Given the description of an element on the screen output the (x, y) to click on. 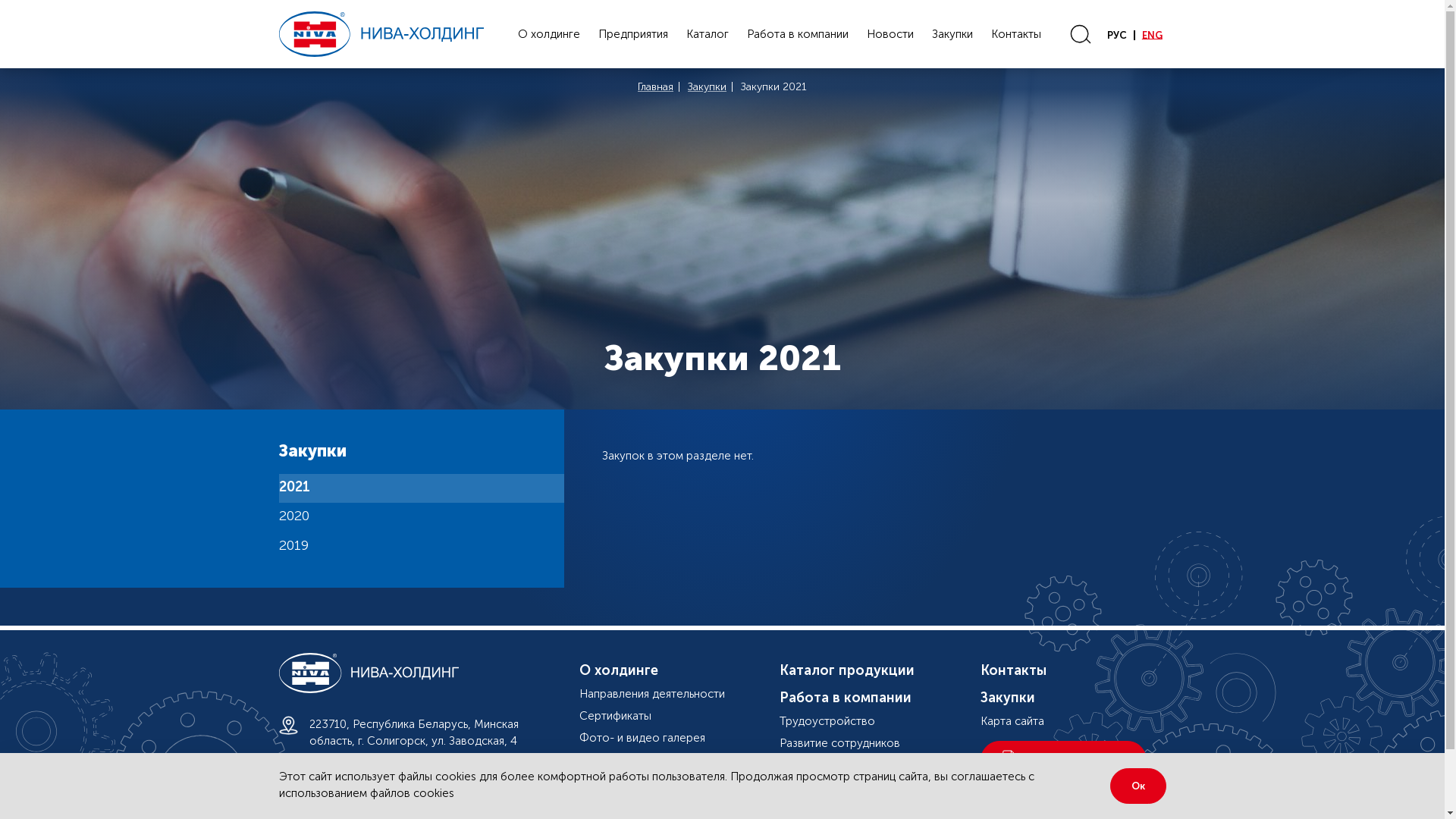
+375 (174) 26-98-03 Element type: text (361, 769)
info@niva.by Element type: text (342, 796)
ENG Element type: text (1152, 34)
2019 Element type: text (421, 546)
2020 Element type: text (421, 517)
